Given the description of an element on the screen output the (x, y) to click on. 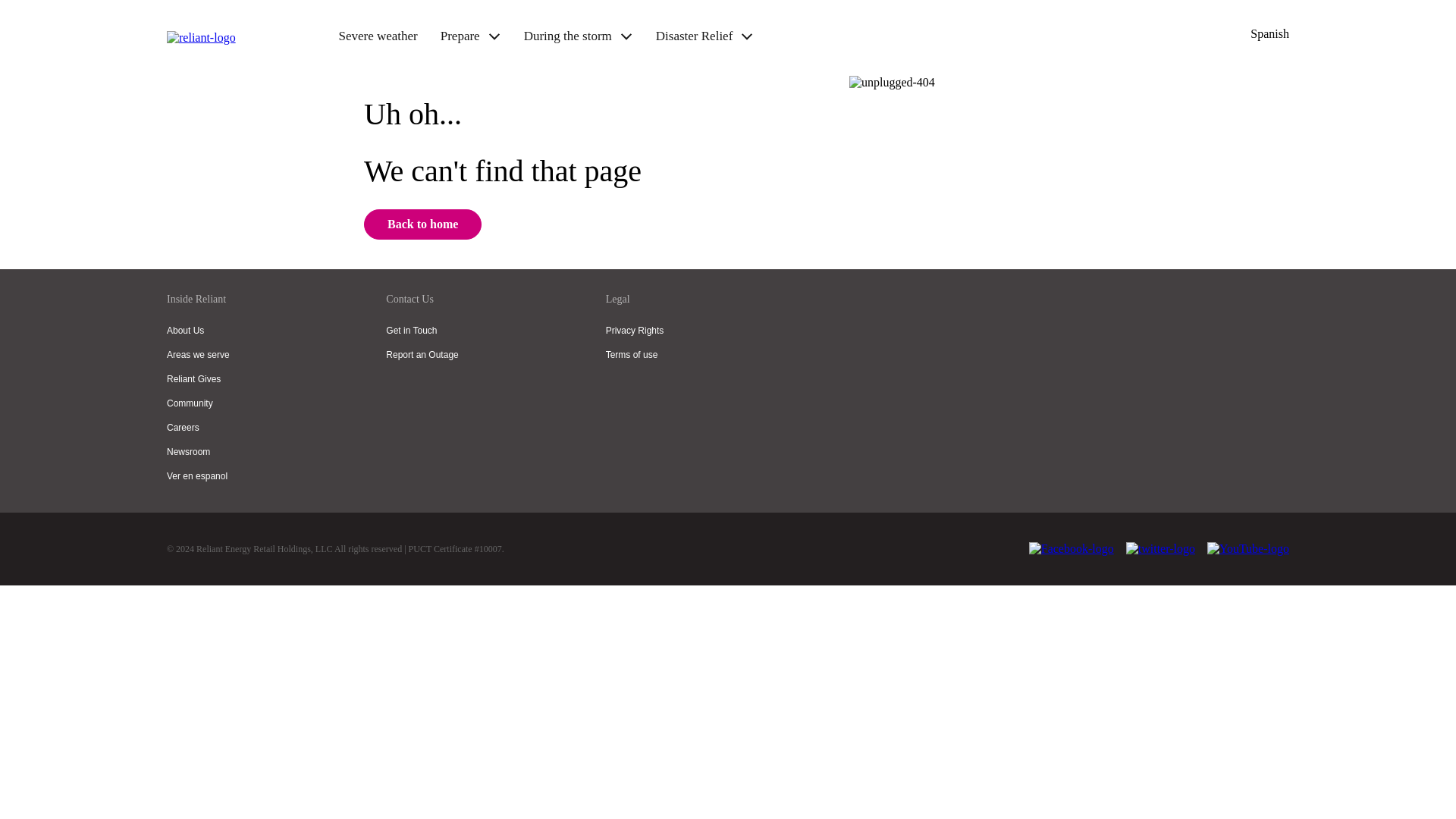
During the storm (567, 35)
About Us (185, 330)
unplugged-404 (891, 82)
Community (189, 403)
Areas we serve (198, 354)
Newsroom (188, 451)
Severe weather (376, 35)
Ver en espanol (197, 475)
Spanish (1269, 33)
Prepare (460, 35)
